Given the description of an element on the screen output the (x, y) to click on. 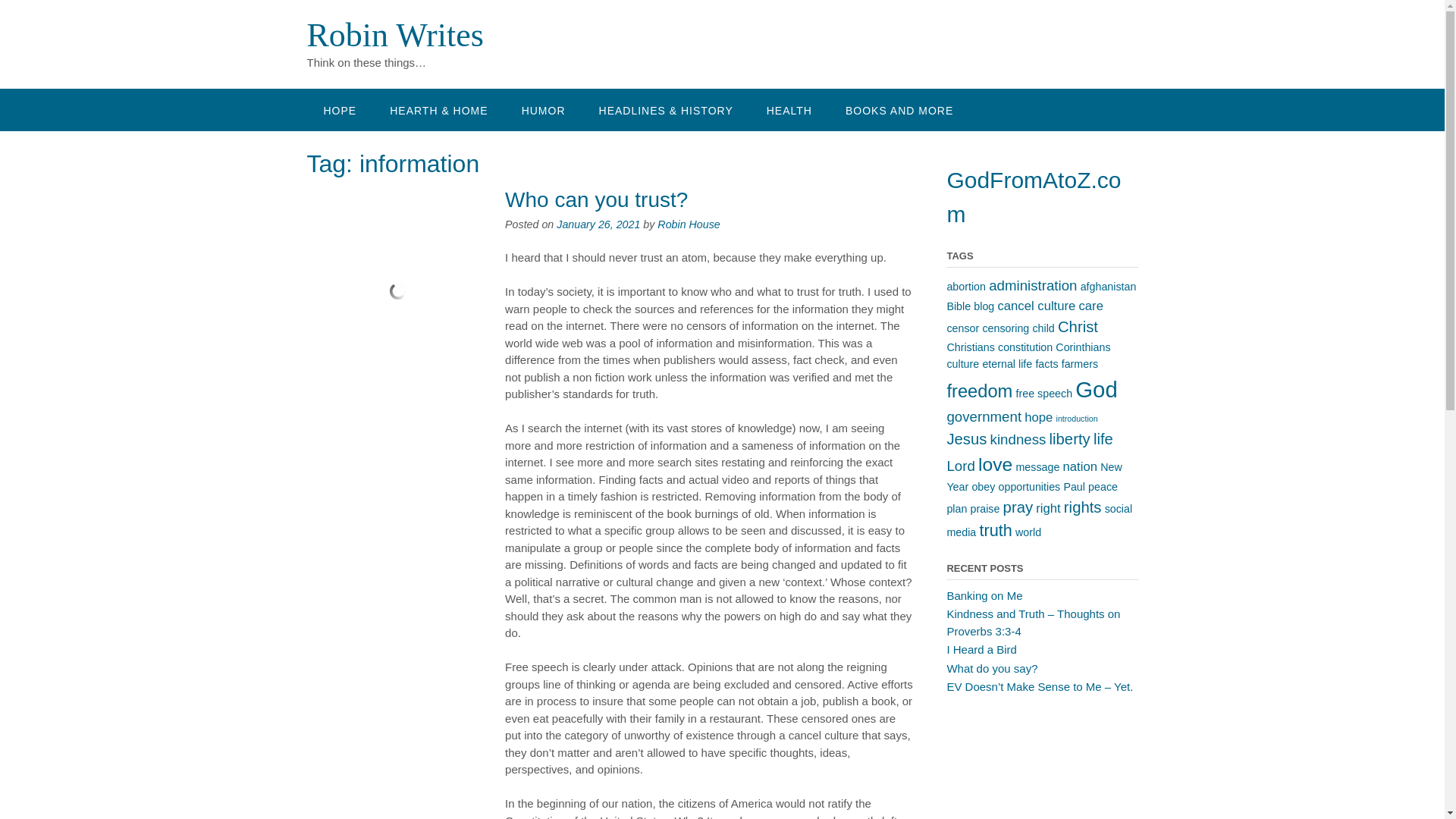
blog (984, 306)
censor (962, 328)
cancel culture (1036, 305)
afghanistan (1108, 286)
child (1043, 328)
BOOKS AND MORE (898, 109)
administration (1032, 285)
GodFromAtoZ.com (1033, 196)
abortion (965, 286)
Christians (970, 346)
